Given the description of an element on the screen output the (x, y) to click on. 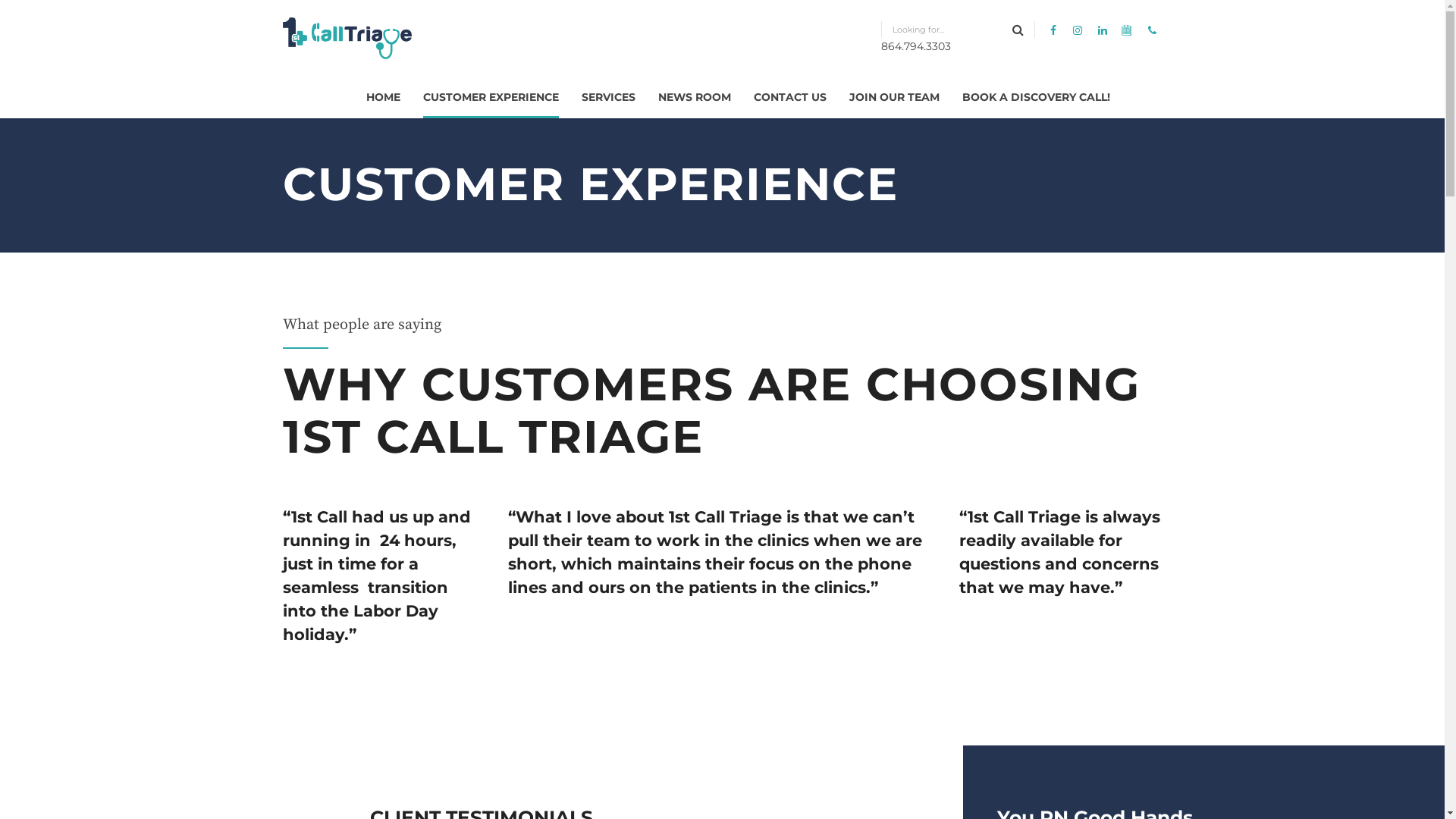
CUSTOMER EXPERIENCE Element type: text (490, 97)
HOME Element type: text (382, 97)
NEWS ROOM Element type: text (694, 97)
SERVICES Element type: text (607, 97)
CONTACT US Element type: text (789, 97)
864.794.3303 Element type: text (1021, 37)
BOOK A DISCOVERY CALL! Element type: text (1035, 97)
JOIN OUR TEAM Element type: text (894, 97)
